Given the description of an element on the screen output the (x, y) to click on. 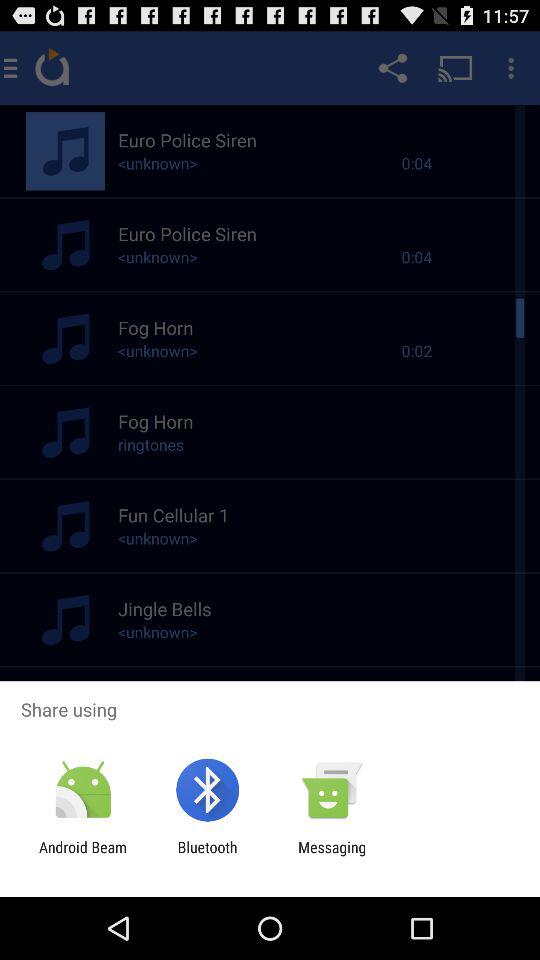
click app to the right of android beam icon (207, 856)
